Given the description of an element on the screen output the (x, y) to click on. 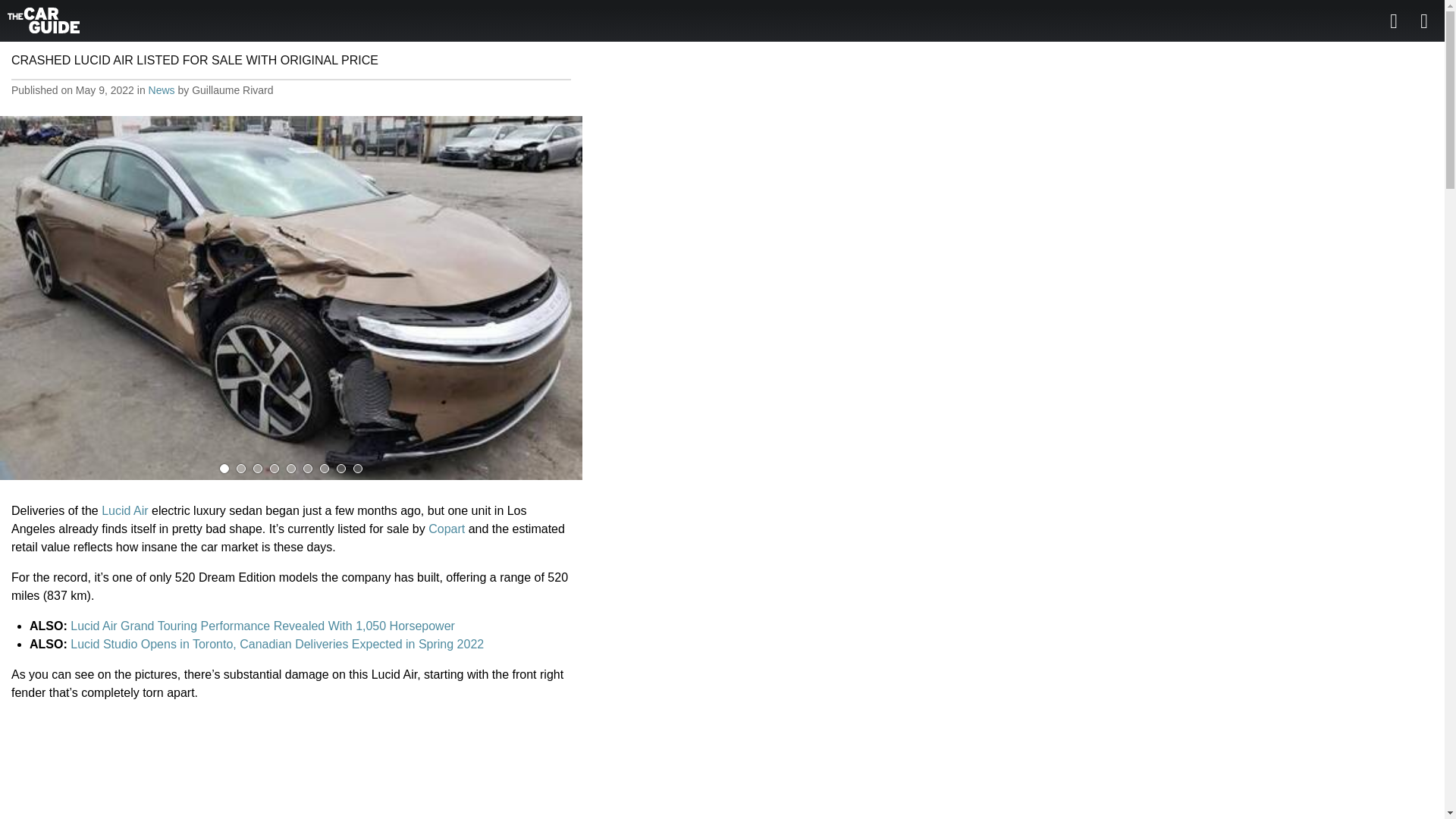
Copart (446, 528)
News (161, 90)
The Car Guide (43, 20)
Lucid Air (124, 510)
